Given the description of an element on the screen output the (x, y) to click on. 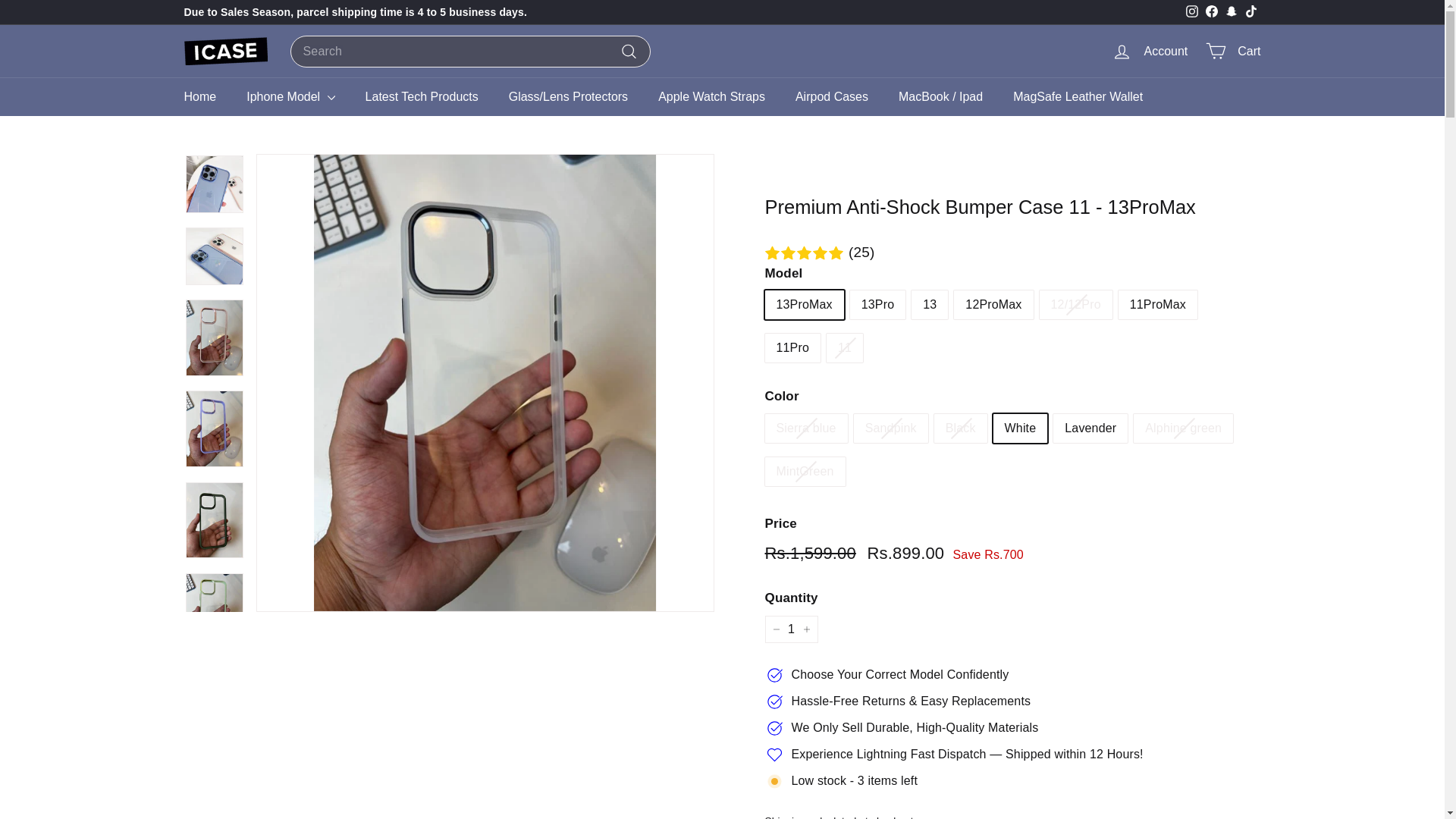
Cart (1232, 50)
Account (1149, 50)
instagram (1192, 10)
Latest Tech Products (421, 96)
MagSafe Leather Wallet (1077, 96)
Apple Watch Straps (711, 96)
Home (199, 96)
